Given the description of an element on the screen output the (x, y) to click on. 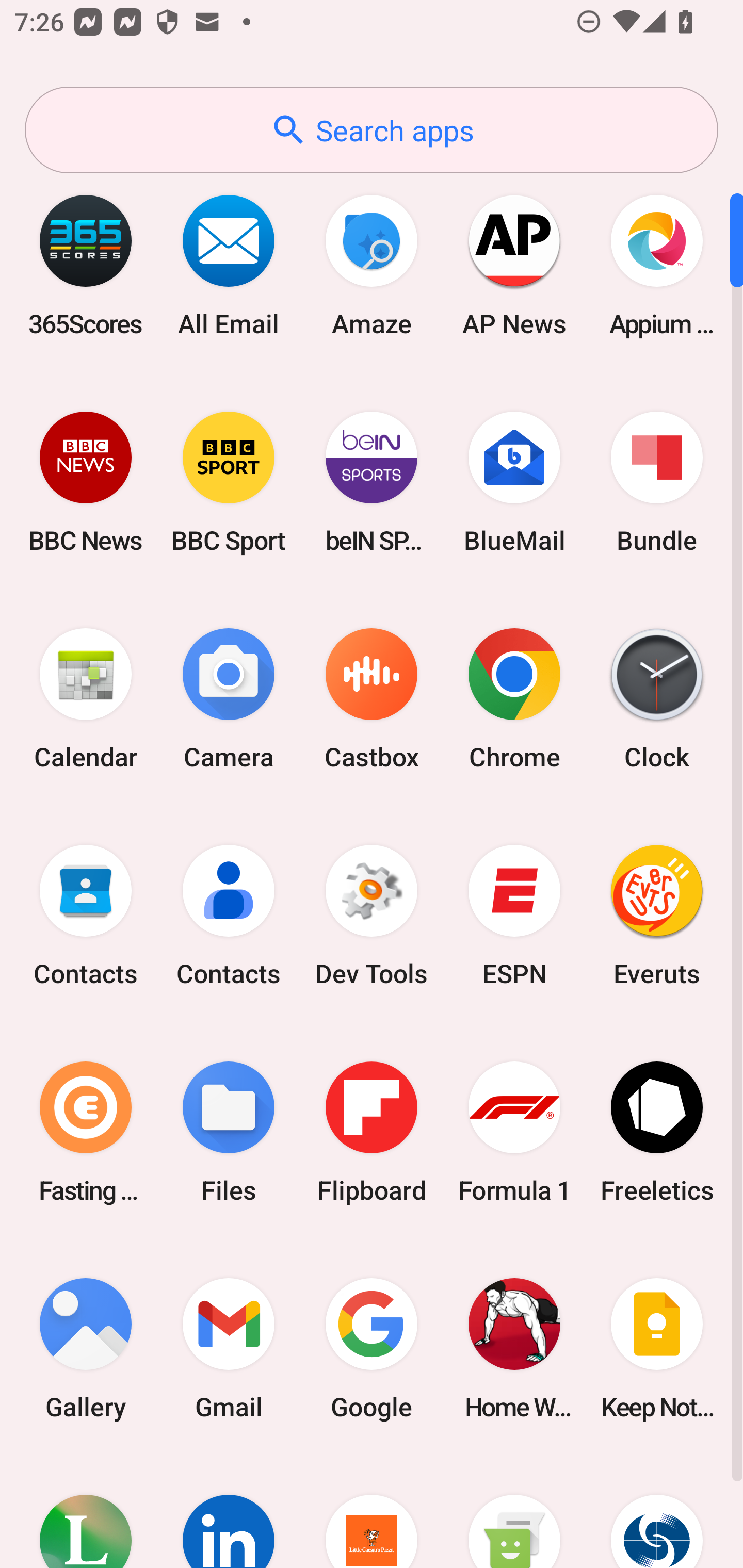
  Search apps (371, 130)
365Scores (85, 264)
All Email (228, 264)
Amaze (371, 264)
AP News (514, 264)
Appium Settings (656, 264)
BBC News (85, 482)
BBC Sport (228, 482)
beIN SPORTS (371, 482)
BlueMail (514, 482)
Bundle (656, 482)
Calendar (85, 699)
Camera (228, 699)
Castbox (371, 699)
Chrome (514, 699)
Clock (656, 699)
Contacts (85, 915)
Contacts (228, 915)
Dev Tools (371, 915)
ESPN (514, 915)
Everuts (656, 915)
Fasting Coach (85, 1131)
Files (228, 1131)
Flipboard (371, 1131)
Formula 1 (514, 1131)
Freeletics (656, 1131)
Gallery (85, 1348)
Gmail (228, 1348)
Google (371, 1348)
Home Workout (514, 1348)
Keep Notes (656, 1348)
